Given the description of an element on the screen output the (x, y) to click on. 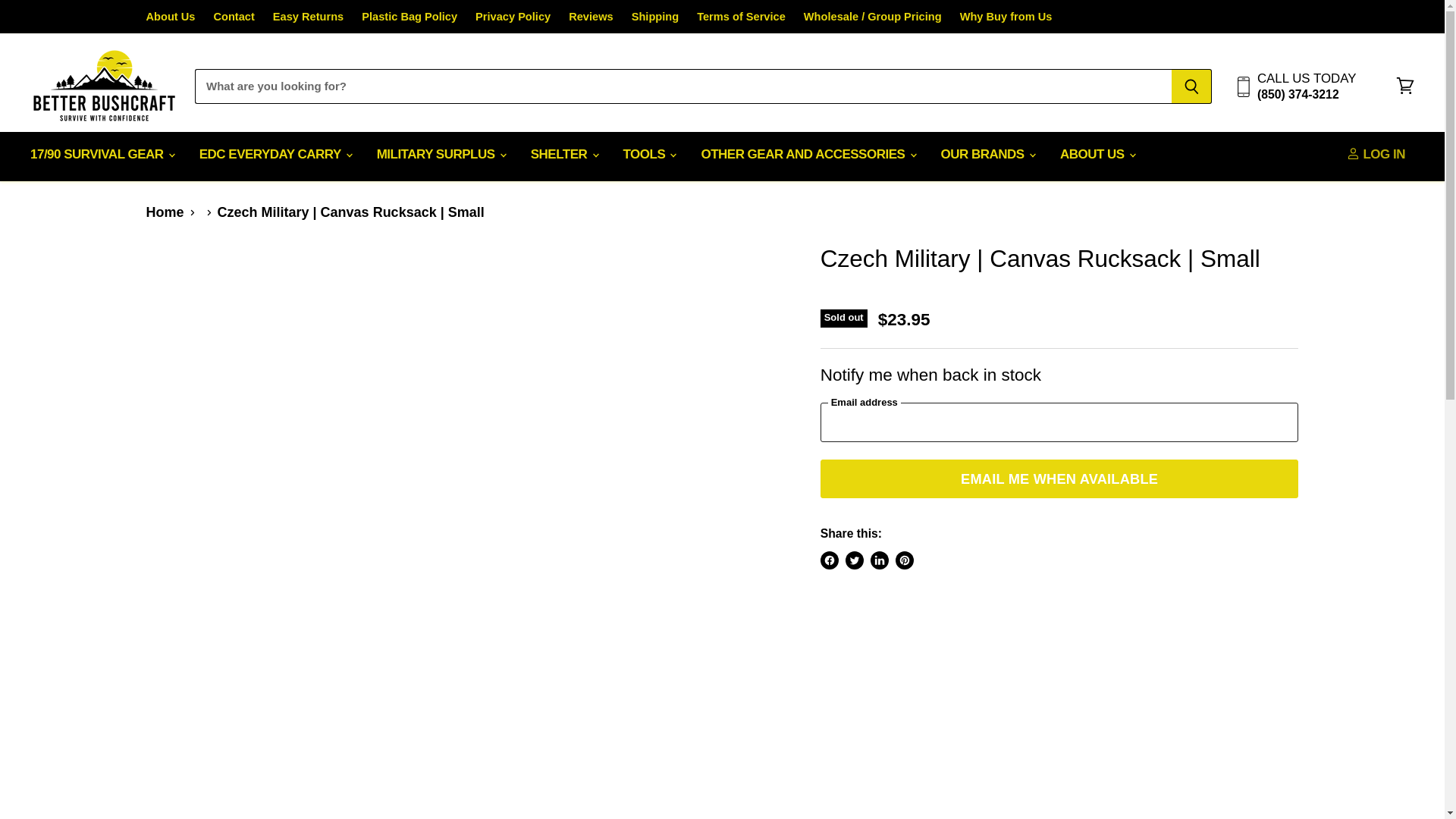
Contact (232, 16)
Plastic Bag Policy (409, 16)
About Us (170, 16)
Easy Returns (308, 16)
Privacy Policy (513, 16)
ACCOUNT ICON (1352, 153)
View cart (1405, 86)
Reviews (590, 16)
Terms of Service (741, 16)
Why Buy from Us (1005, 16)
